Given the description of an element on the screen output the (x, y) to click on. 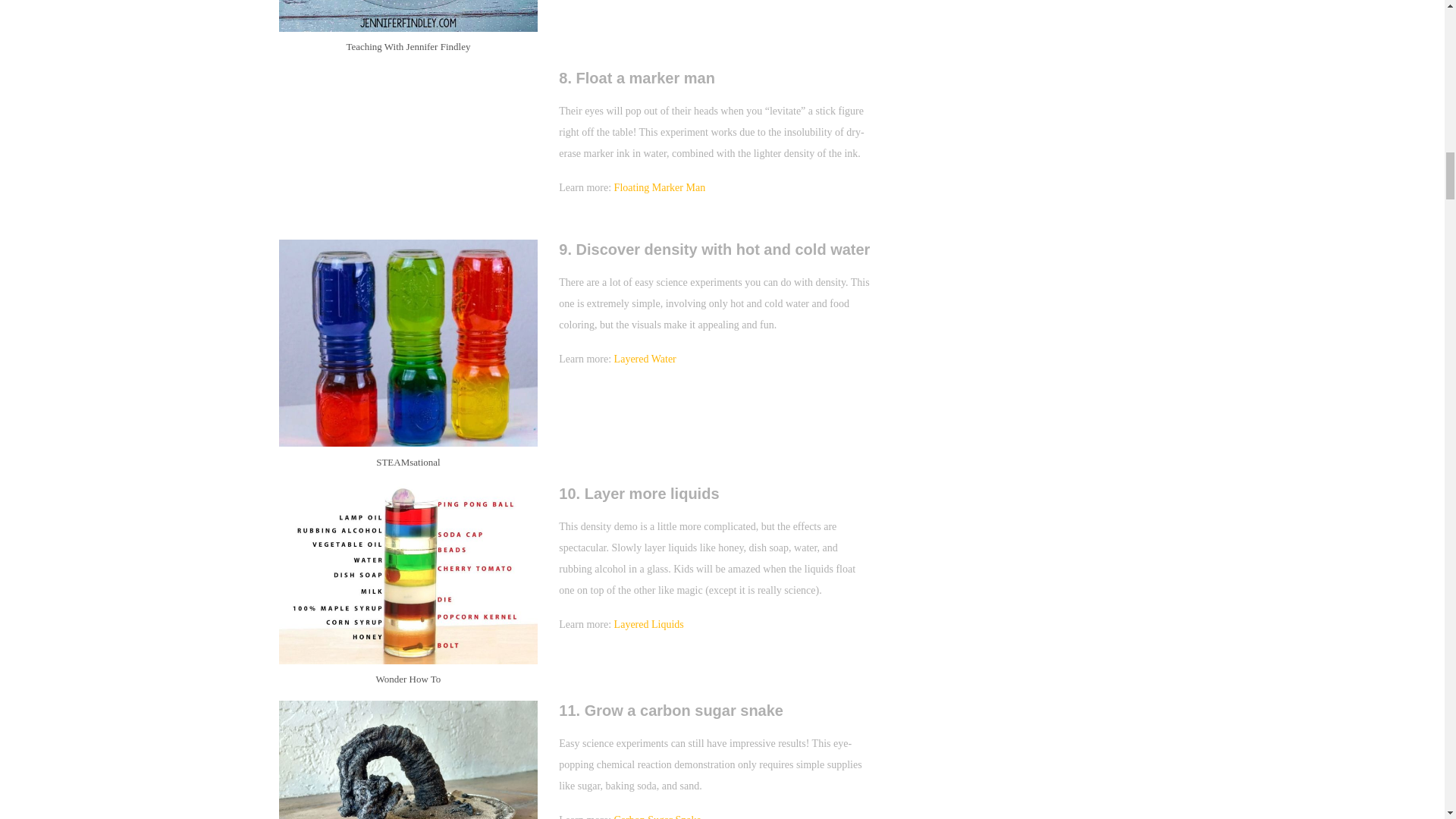
Apple Oxidation Experiment (408, 15)
5th Grade Science Steamsational (408, 342)
MAGIC WATER MARKER (408, 153)
Carbon Snake Experiment (408, 760)
Easy Science Experiments: Density Column (408, 574)
